Given the description of an element on the screen output the (x, y) to click on. 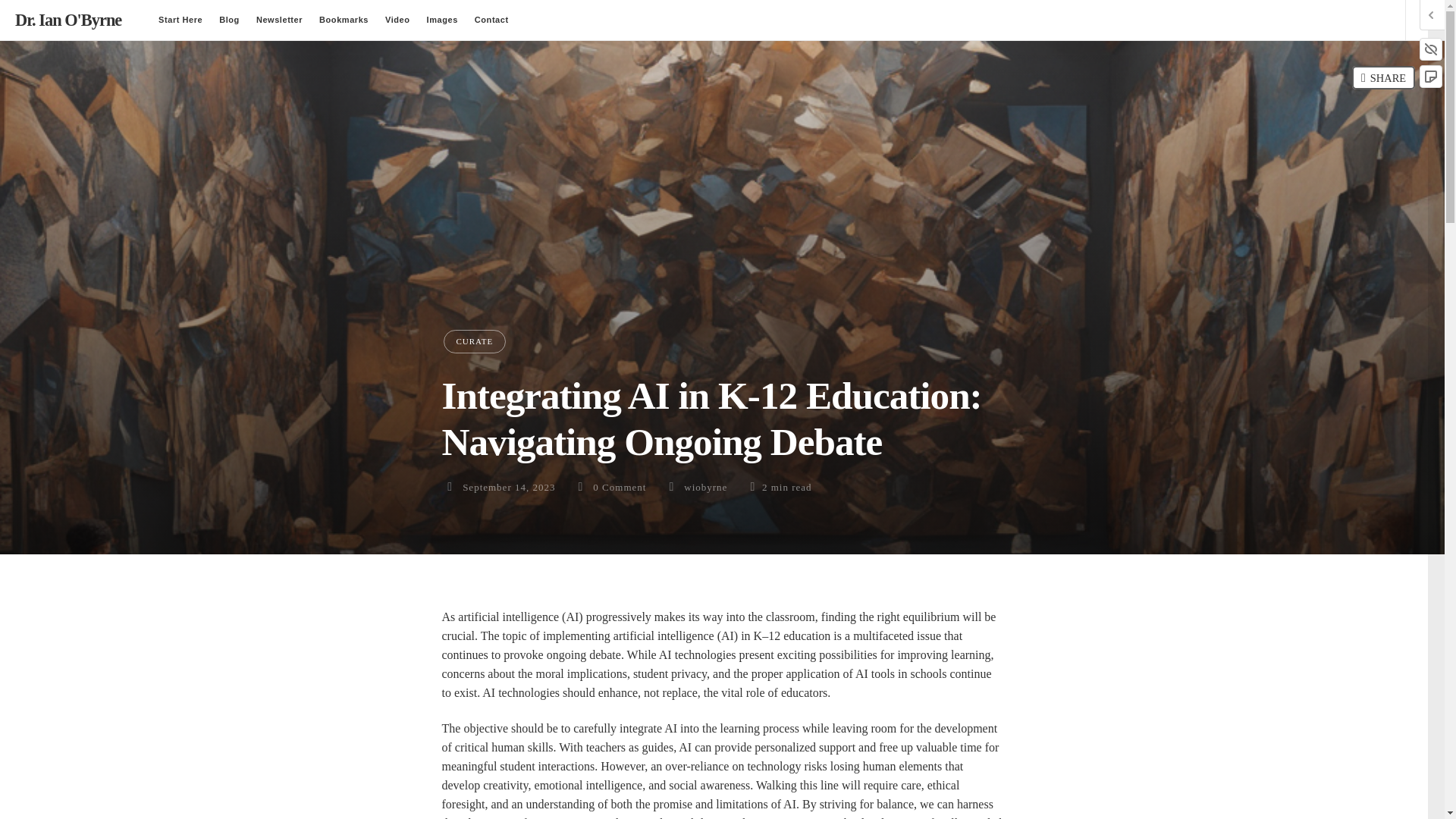
September 14, 2023 (508, 487)
Newsletter (279, 20)
Bookmarks (343, 20)
0 Comment (619, 487)
CURATE (473, 341)
wiobyrne (705, 487)
Dr. Ian O'Byrne (67, 19)
Start Here (180, 20)
